Given the description of an element on the screen output the (x, y) to click on. 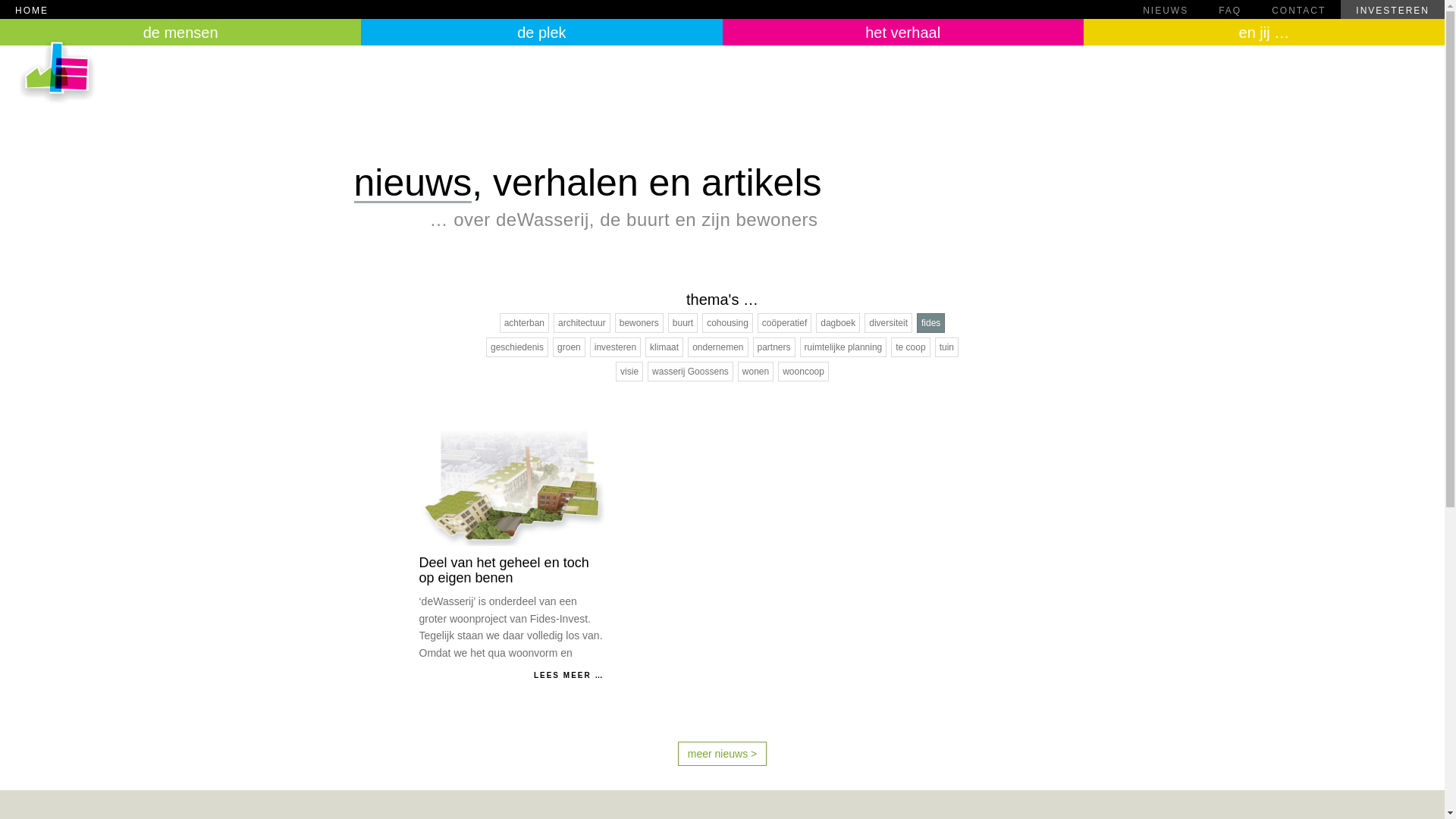
FAQ Element type: text (1229, 9)
cohousing Element type: text (727, 322)
groen Element type: text (568, 347)
fides Element type: text (930, 322)
de plek Element type: text (540, 31)
te coop Element type: text (910, 347)
wonen Element type: text (755, 371)
INVESTEREN Element type: text (1392, 9)
partners Element type: text (774, 347)
visie Element type: text (629, 371)
diversiteit Element type: text (888, 322)
meer nieuws > Element type: text (721, 753)
dagboek Element type: text (837, 322)
bewoners Element type: text (639, 322)
ondernemen Element type: text (717, 347)
CONTACT Element type: text (1298, 9)
wasserij Goossens Element type: text (690, 371)
buurt Element type: text (682, 322)
HOME Element type: text (563, 9)
klimaat Element type: text (664, 347)
het verhaal Element type: text (901, 31)
achterban Element type: text (524, 322)
geschiedenis Element type: text (517, 347)
architectuur Element type: text (581, 322)
NIEUWS Element type: text (1165, 9)
de mensen Element type: text (180, 31)
wooncoop Element type: text (803, 371)
ruimtelijke planning Element type: text (843, 347)
tuin Element type: text (946, 347)
investeren Element type: text (614, 347)
